Given the description of an element on the screen output the (x, y) to click on. 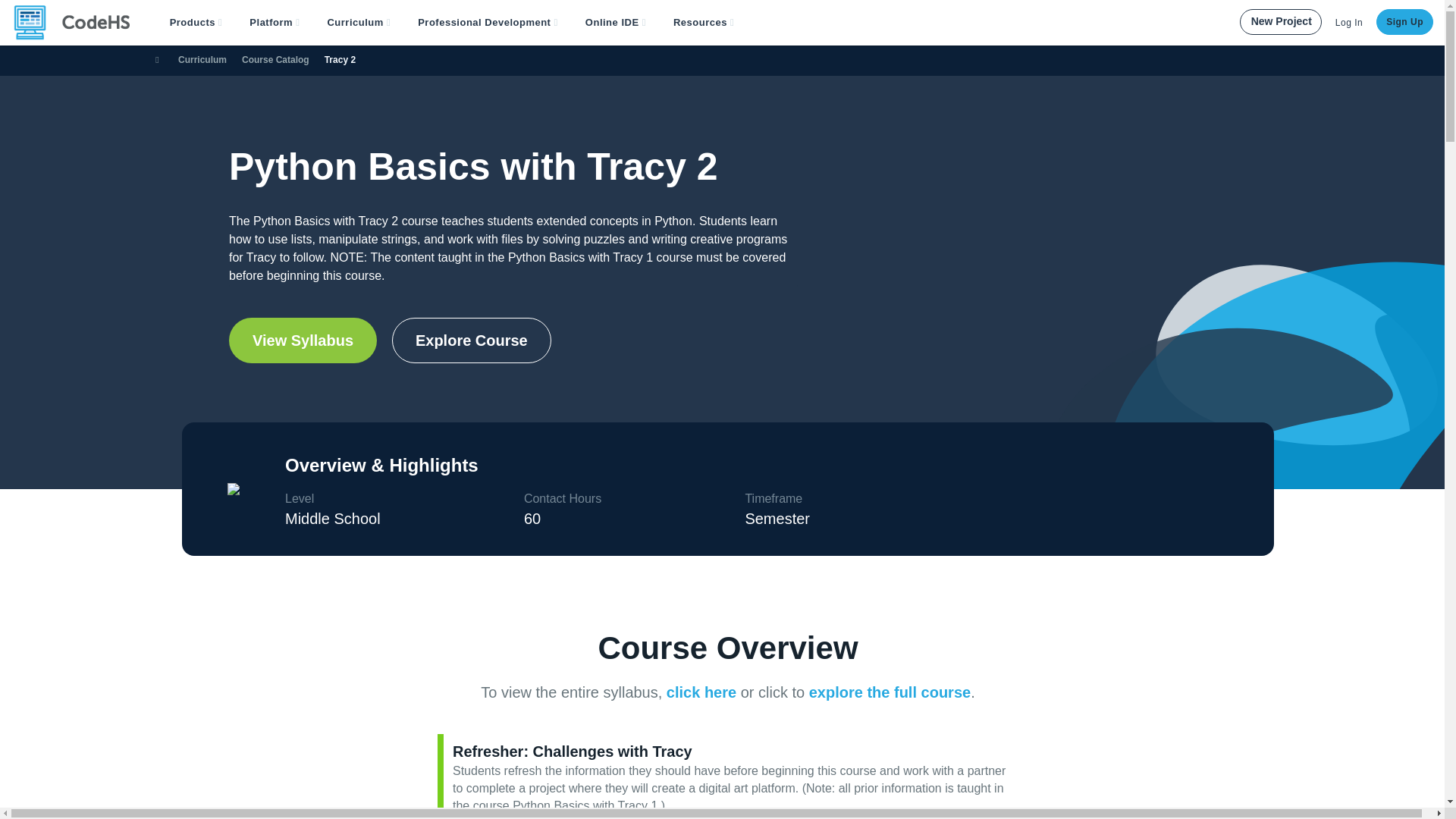
Platform (274, 22)
Curriculum (358, 22)
Products (195, 22)
